Given the description of an element on the screen output the (x, y) to click on. 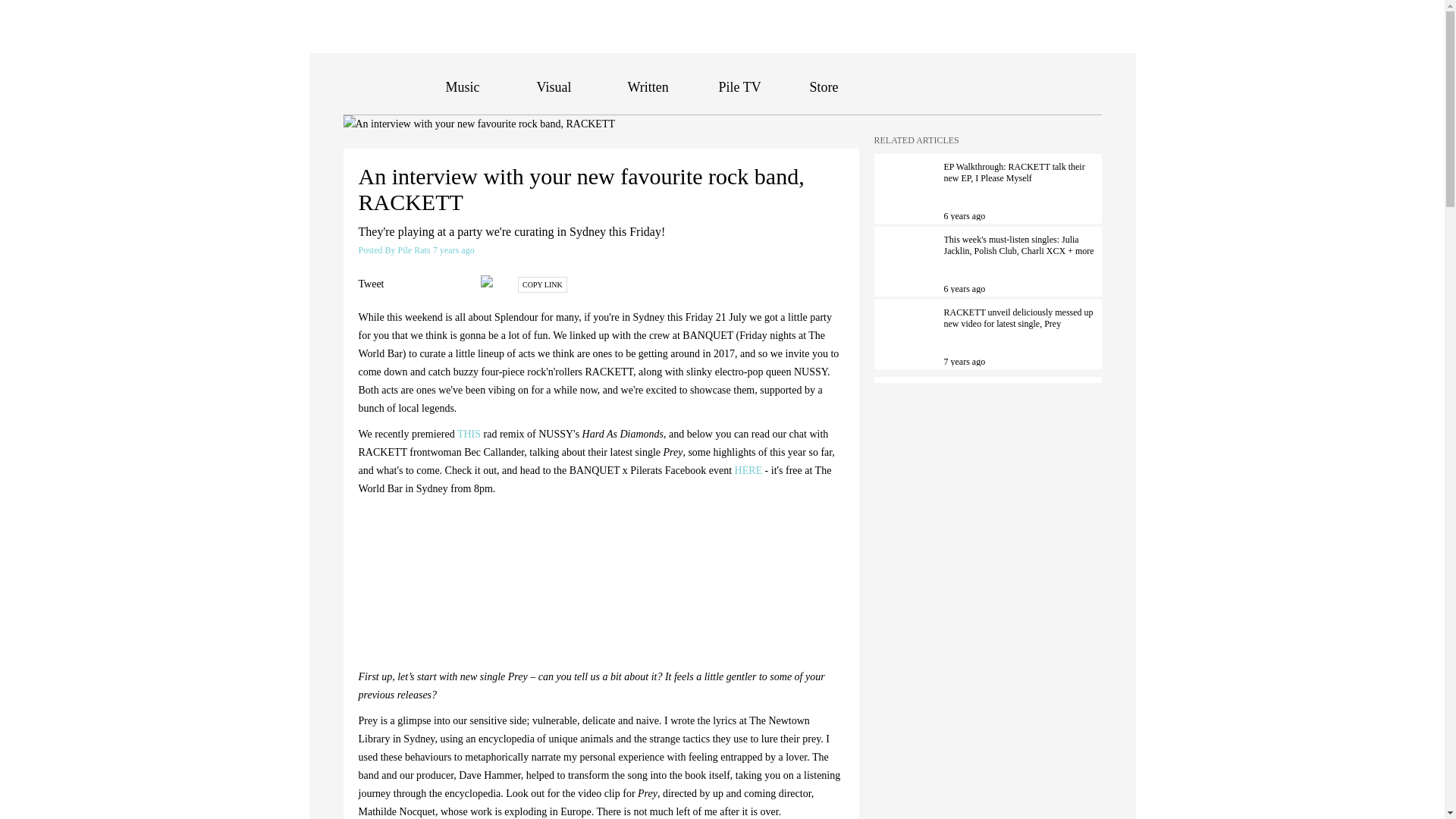
Music (462, 86)
Written (647, 86)
Pile TV (740, 86)
Home (393, 86)
Visual (554, 86)
Music (462, 86)
Share via email (490, 281)
Written (647, 86)
Made In The Pile (1077, 87)
Pile TV (740, 86)
Visual (554, 86)
Made In The Pile (1077, 87)
